Given the description of an element on the screen output the (x, y) to click on. 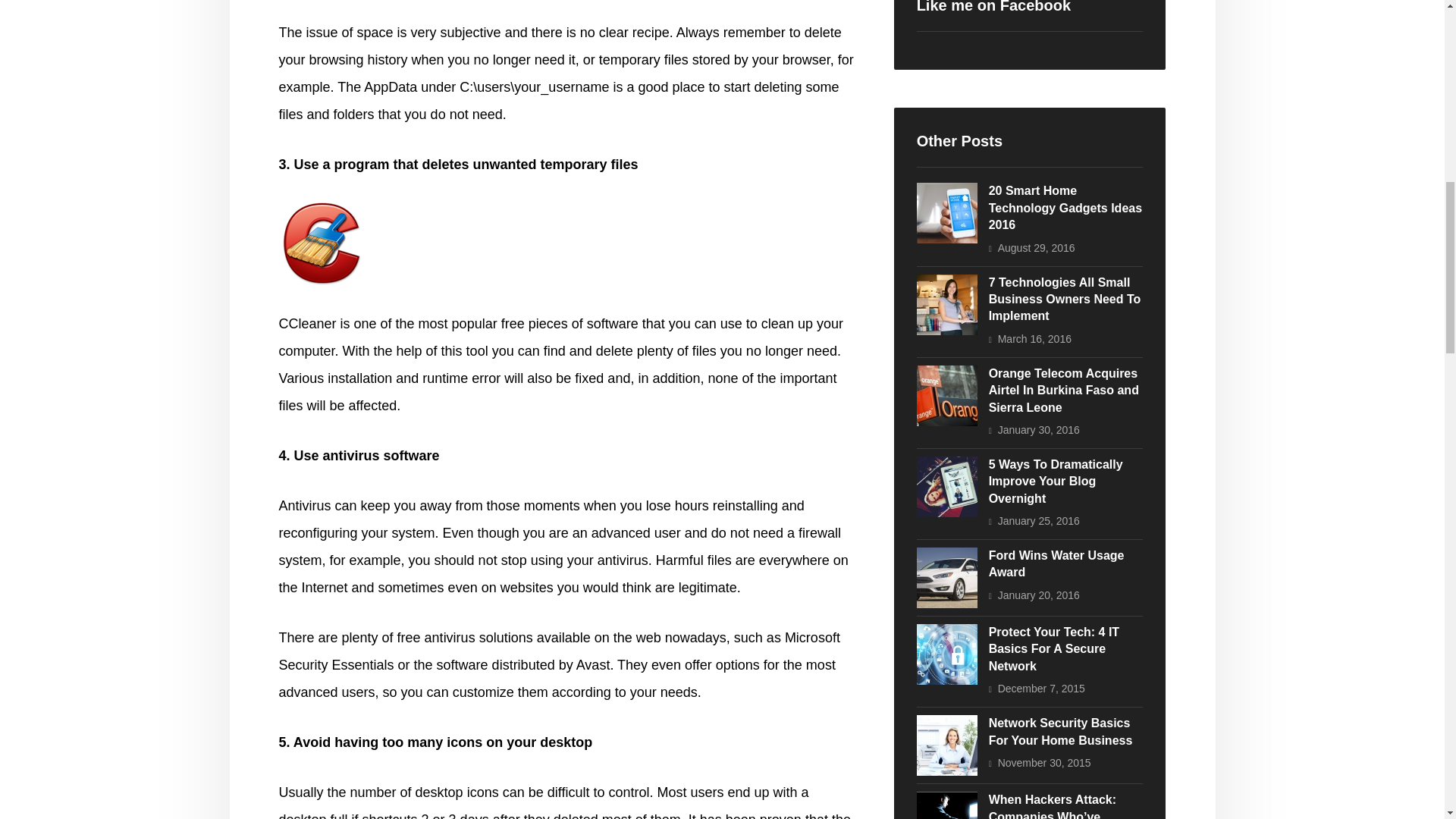
Ford Wins Water Usage Award (1056, 563)
5 Ways To Dramatically Improve Your Blog Overnight (946, 486)
Network Security Basics For Your Home Business (1060, 731)
Protect Your Tech: 4 IT Basics For A Secure Network (946, 654)
Network Security Basics For Your Home Business (946, 744)
7 Technologies All Small Business Owners Need To Implement (1064, 299)
7 Technologies All Small Business Owners Need To Implement (946, 304)
20 Smart Home Technology Gadgets Ideas 2016 (946, 212)
5 Ways To Dramatically Improve Your Blog Overnight (1055, 481)
Ford Wins Water Usage Award (946, 577)
20 Smart Home Technology Gadgets Ideas 2016 (1064, 207)
Protect Your Tech: 4 IT Basics For A Secure Network (1053, 648)
